Given the description of an element on the screen output the (x, y) to click on. 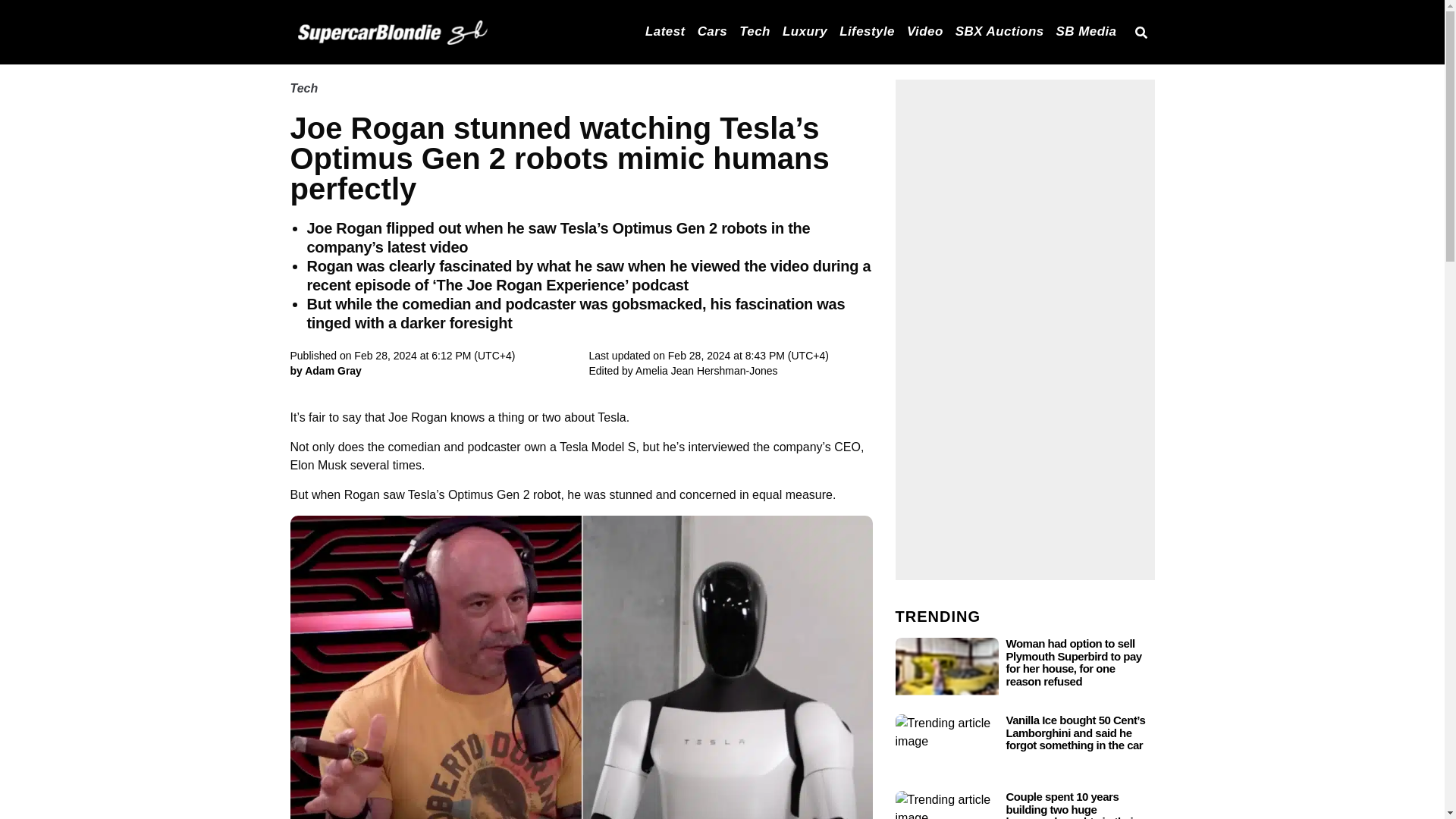
Luxury (805, 30)
Cars (712, 30)
Latest (665, 30)
Tech (754, 30)
